Given the description of an element on the screen output the (x, y) to click on. 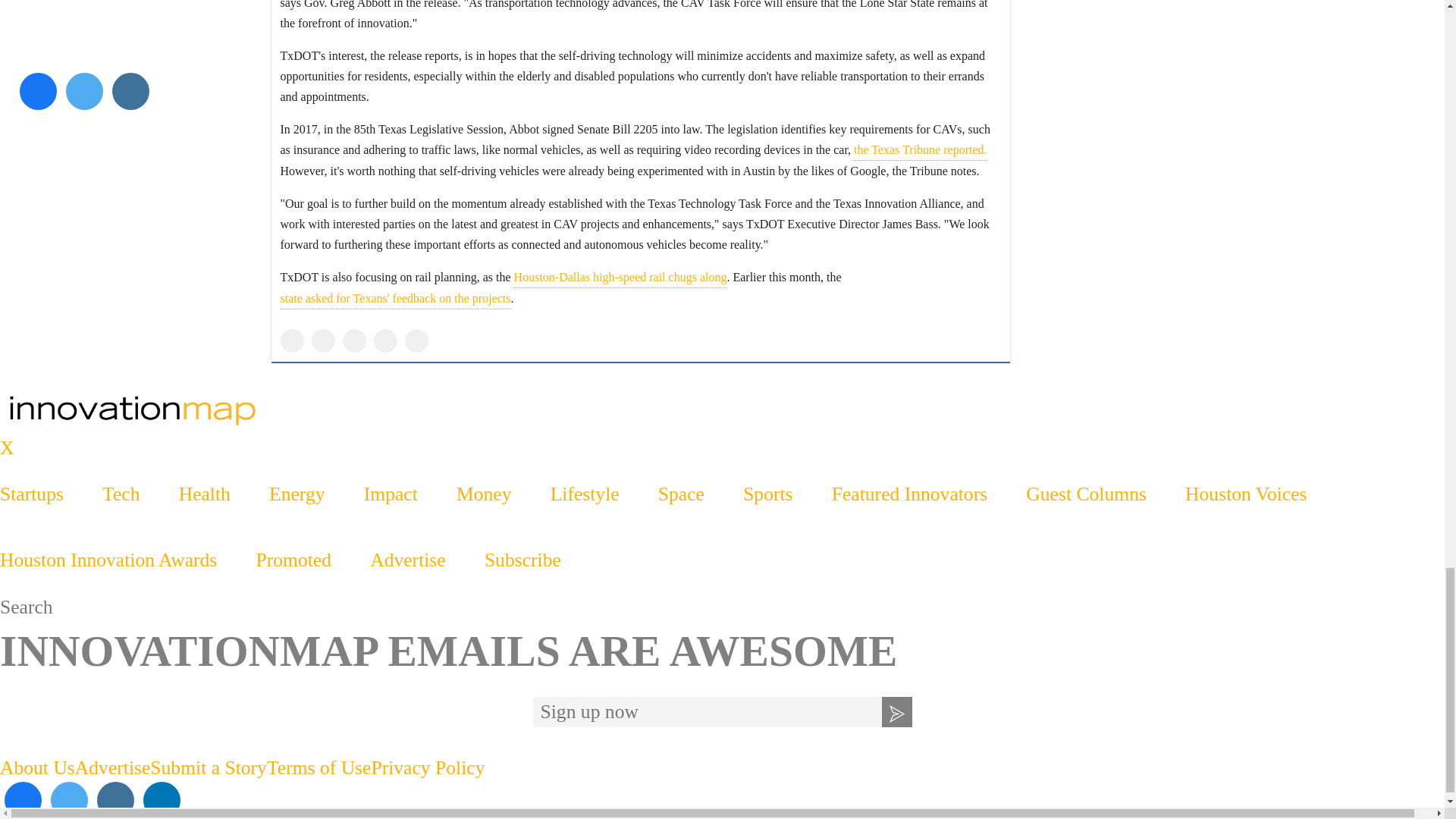
SportsMap Houston (722, 410)
the Texas Tribune reported. (920, 149)
state asked for Texans' feedback on the projects (396, 298)
Houston-Dallas high-speed rail chugs along (619, 277)
